Given the description of an element on the screen output the (x, y) to click on. 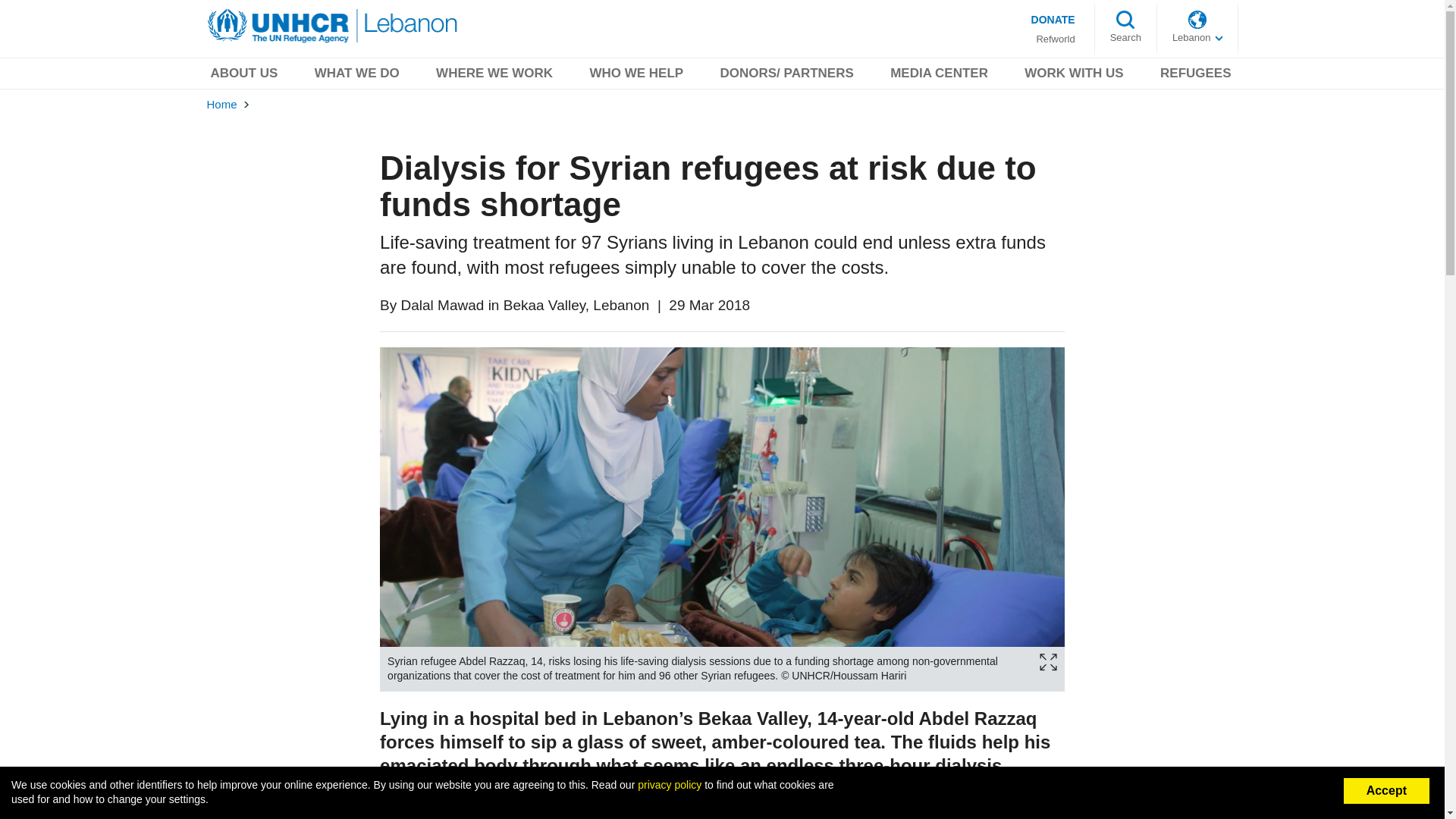
WHERE WE WORK (494, 76)
DONATE (1053, 19)
About Us (243, 76)
ABOUT US (243, 76)
Donate (1053, 19)
UNHCR International (1197, 38)
Refworld (1054, 38)
WHAT WE DO (357, 76)
Refworld (1054, 38)
Search (1125, 38)
UNHCR Lebanon (333, 25)
Search (1125, 38)
Lebanon (1197, 38)
WHO WE HELP (636, 76)
